Given the description of an element on the screen output the (x, y) to click on. 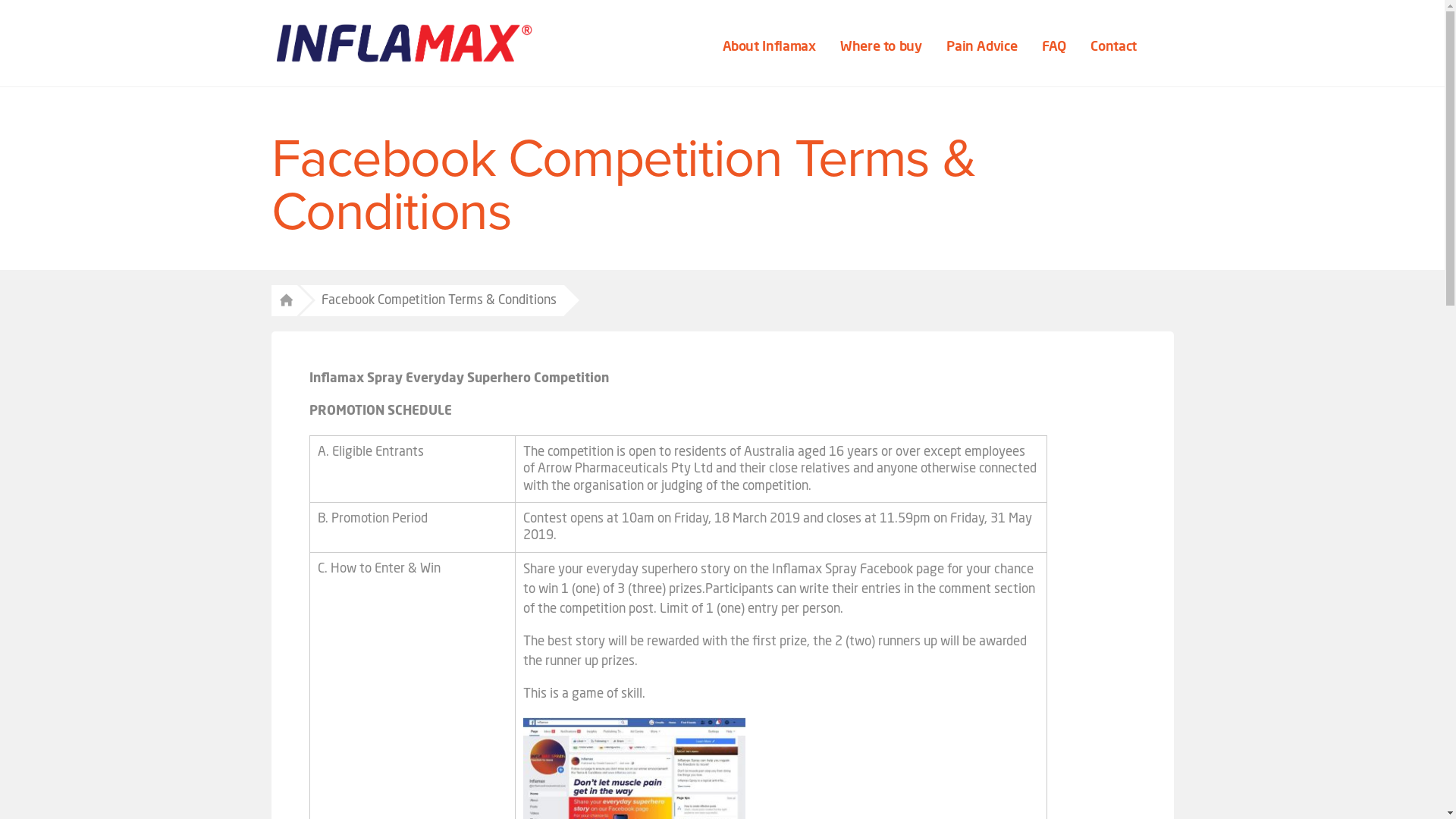
Home page Element type: text (403, 43)
Where to buy  Element type: text (882, 46)
Contact  Element type: text (1114, 46)
Pain Advice  Element type: text (983, 46)
About Inflamax  Element type: text (771, 46)
FAQ  Element type: text (1055, 46)
Home Element type: text (284, 300)
